Given the description of an element on the screen output the (x, y) to click on. 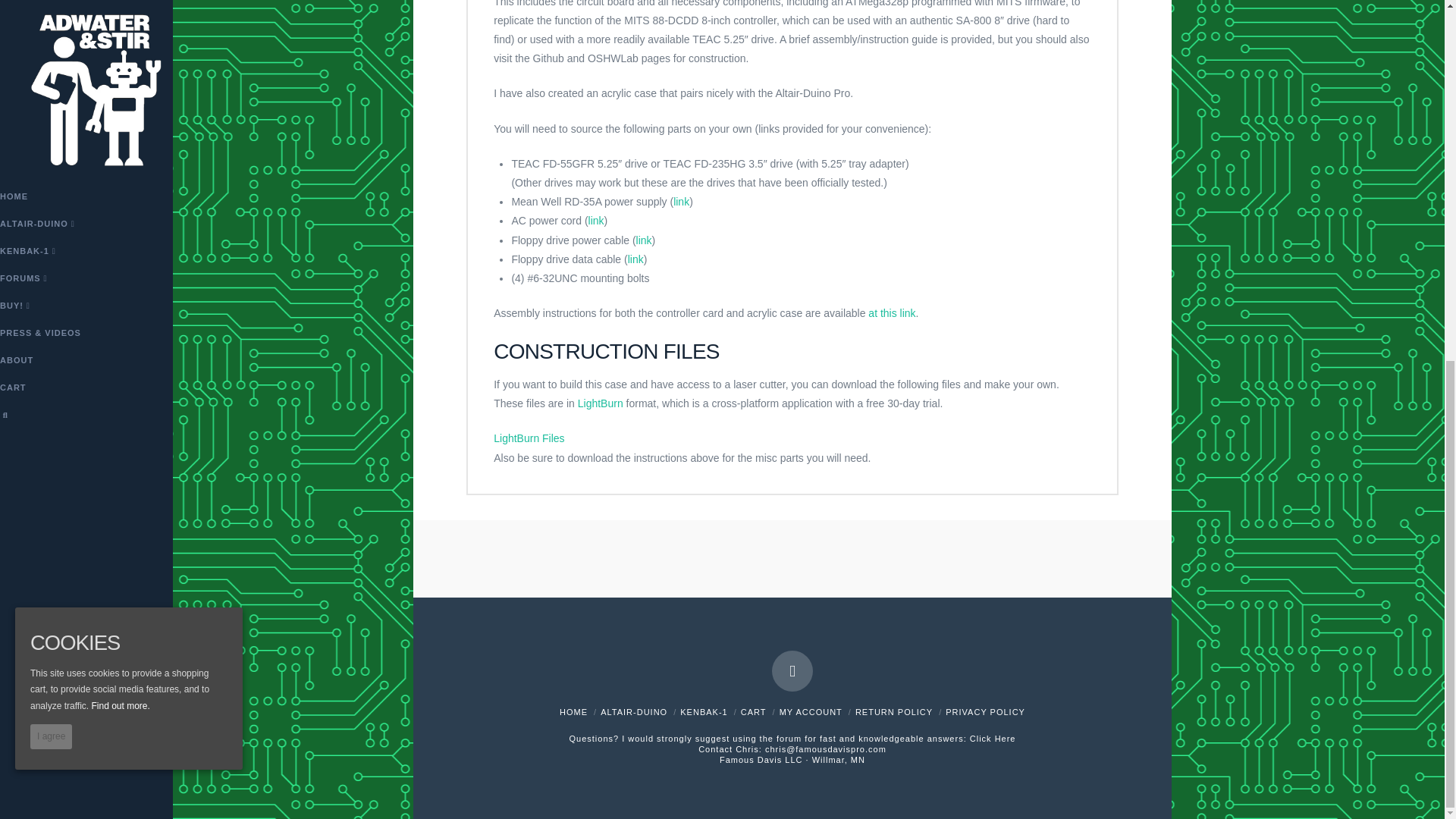
Facebook (791, 670)
